Given the description of an element on the screen output the (x, y) to click on. 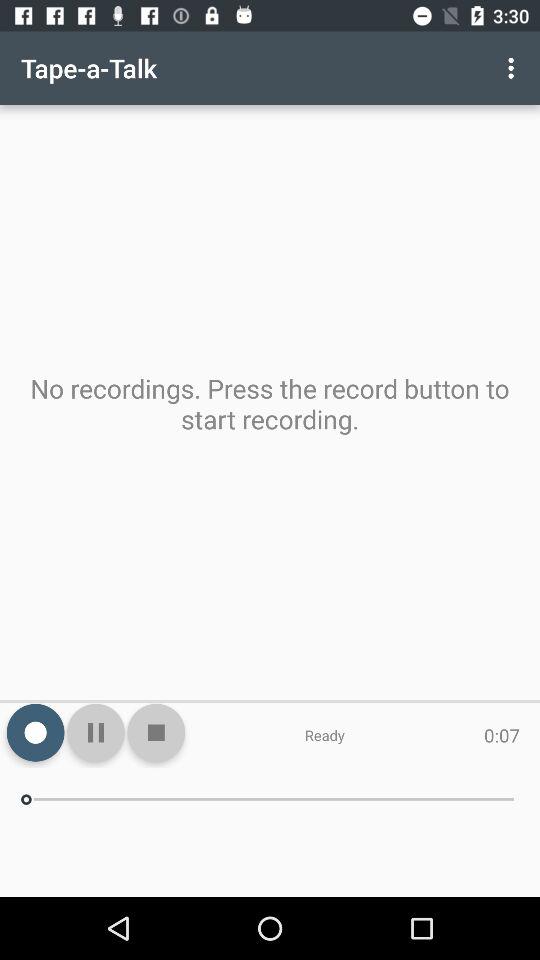
open the icon above the no recordings press icon (513, 67)
